Given the description of an element on the screen output the (x, y) to click on. 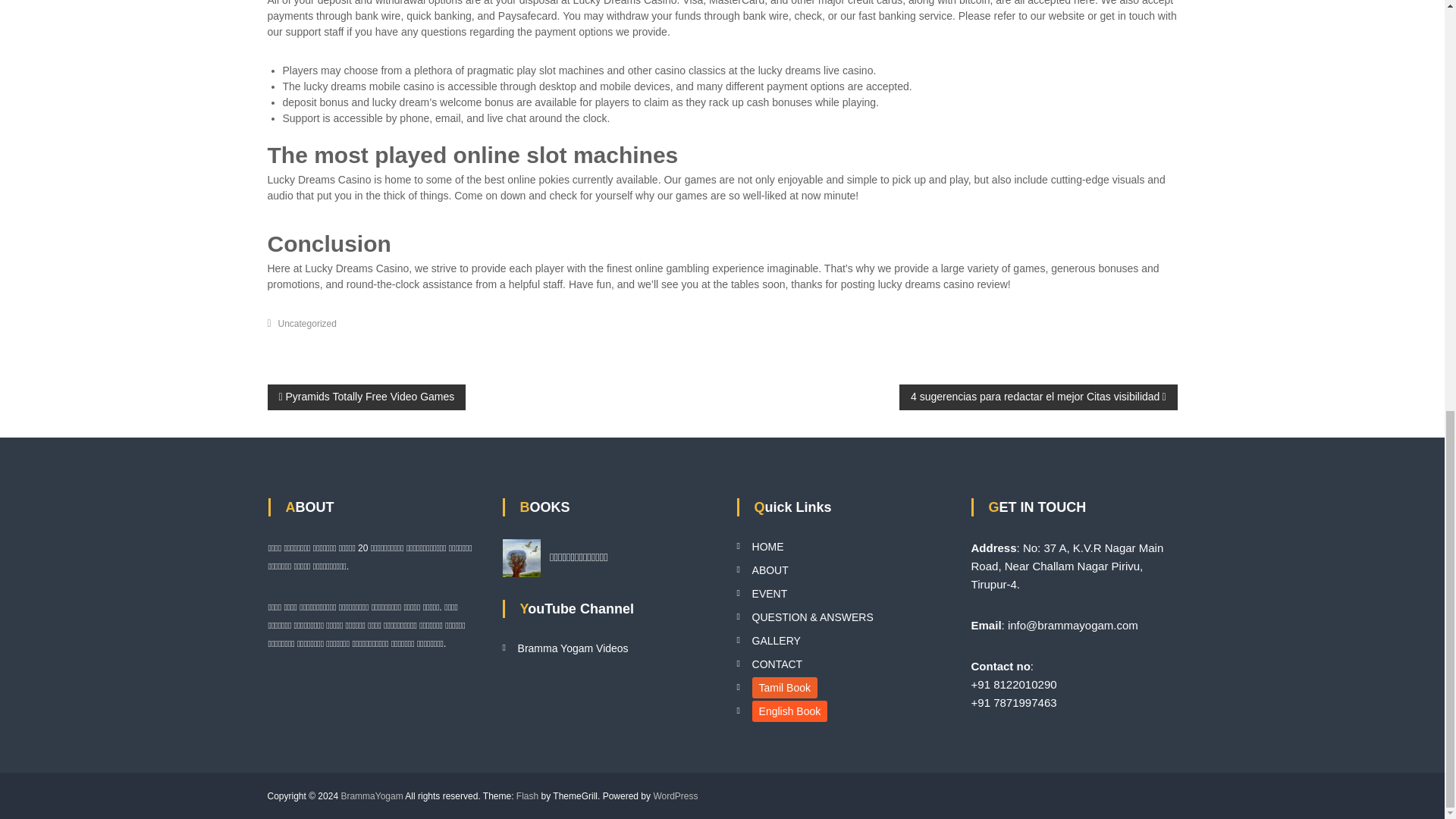
BrammaYogam (371, 796)
ABOUT (770, 570)
Pyramids Totally Free Video Games (365, 397)
WordPress (674, 796)
4 sugerencias para redactar el mejor Citas visibilidad (1038, 397)
HOME (768, 546)
GALLERY (776, 640)
Tamil Book (784, 687)
Flash (527, 796)
Uncategorized (307, 323)
